Given the description of an element on the screen output the (x, y) to click on. 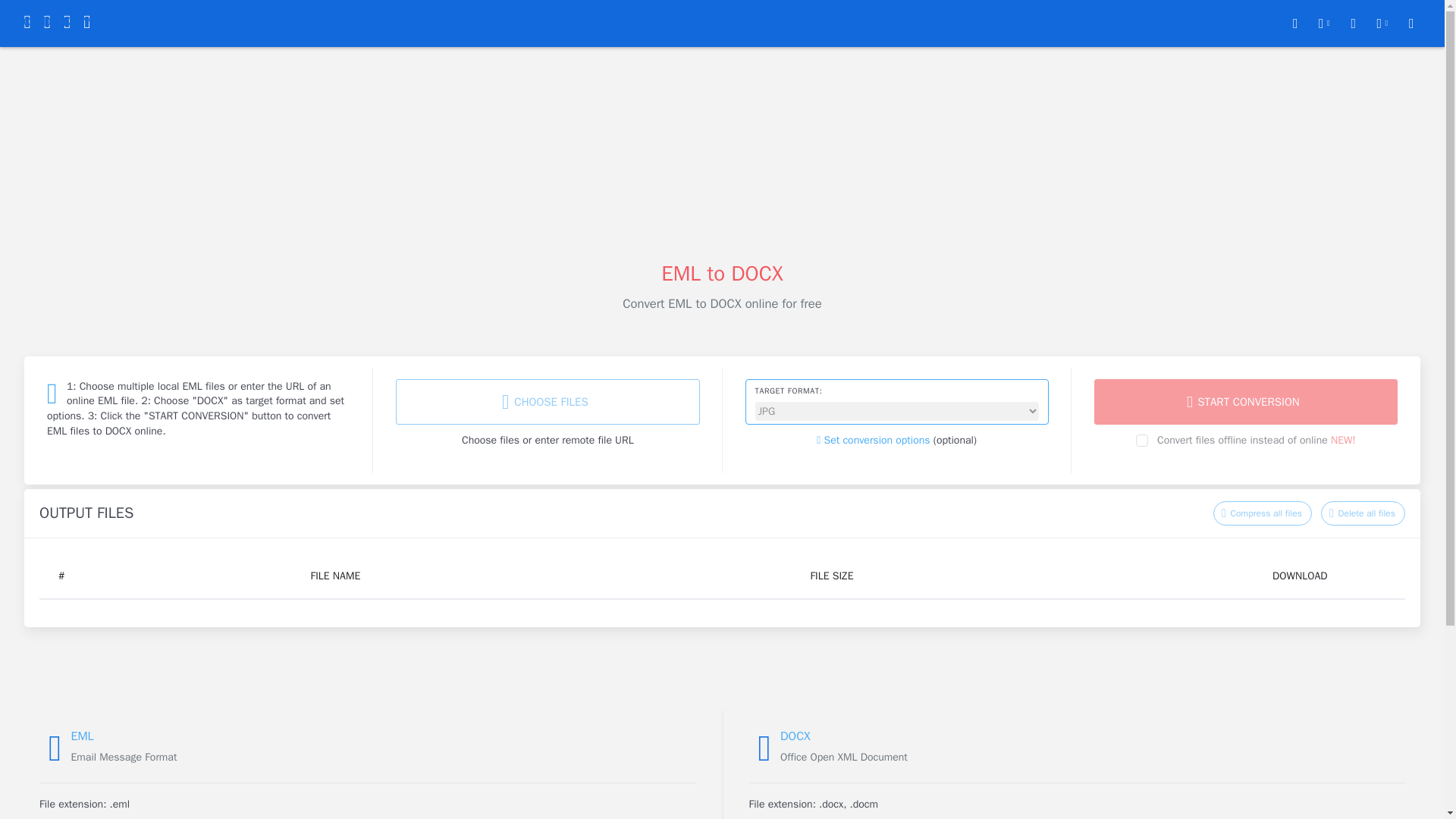
enter remote file URL (583, 440)
Delete all files (1362, 513)
Toolbox (1324, 23)
Set conversion options (873, 440)
START CONVERSION (1245, 402)
Language (1381, 23)
DOCX (795, 735)
CHOOSE FILES (547, 402)
Compress all files (1261, 513)
